Given the description of an element on the screen output the (x, y) to click on. 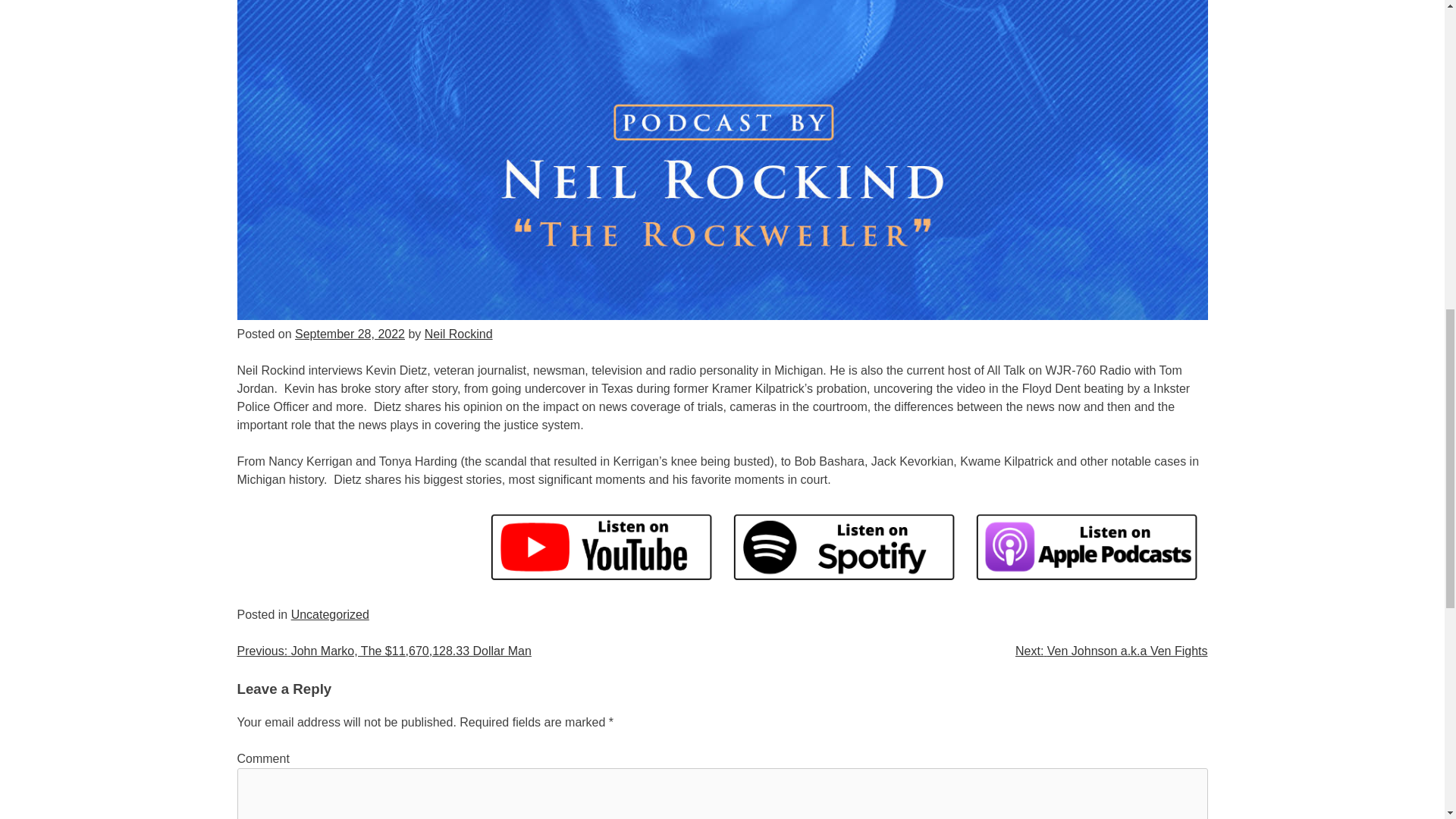
Uncategorized (330, 614)
Neil Rockind (459, 333)
Next: Ven Johnson a.k.a Ven Fights (1111, 650)
September 28, 2022 (349, 333)
